Given the description of an element on the screen output the (x, y) to click on. 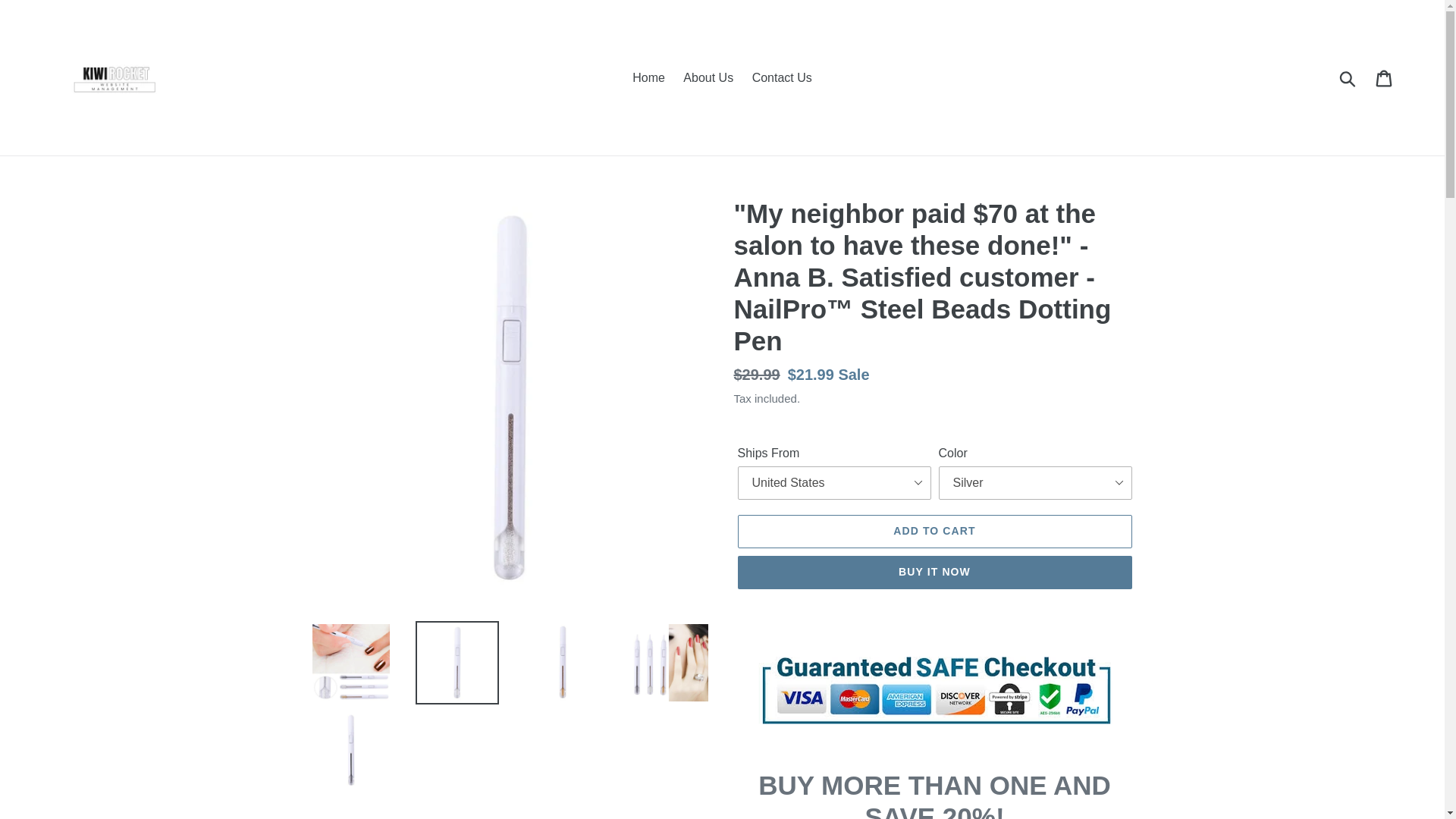
Contact Us (781, 77)
Home (648, 77)
ADD TO CART (933, 531)
Submit (1348, 77)
BUY IT NOW (933, 572)
Cart (1385, 77)
About Us (708, 77)
